Given the description of an element on the screen output the (x, y) to click on. 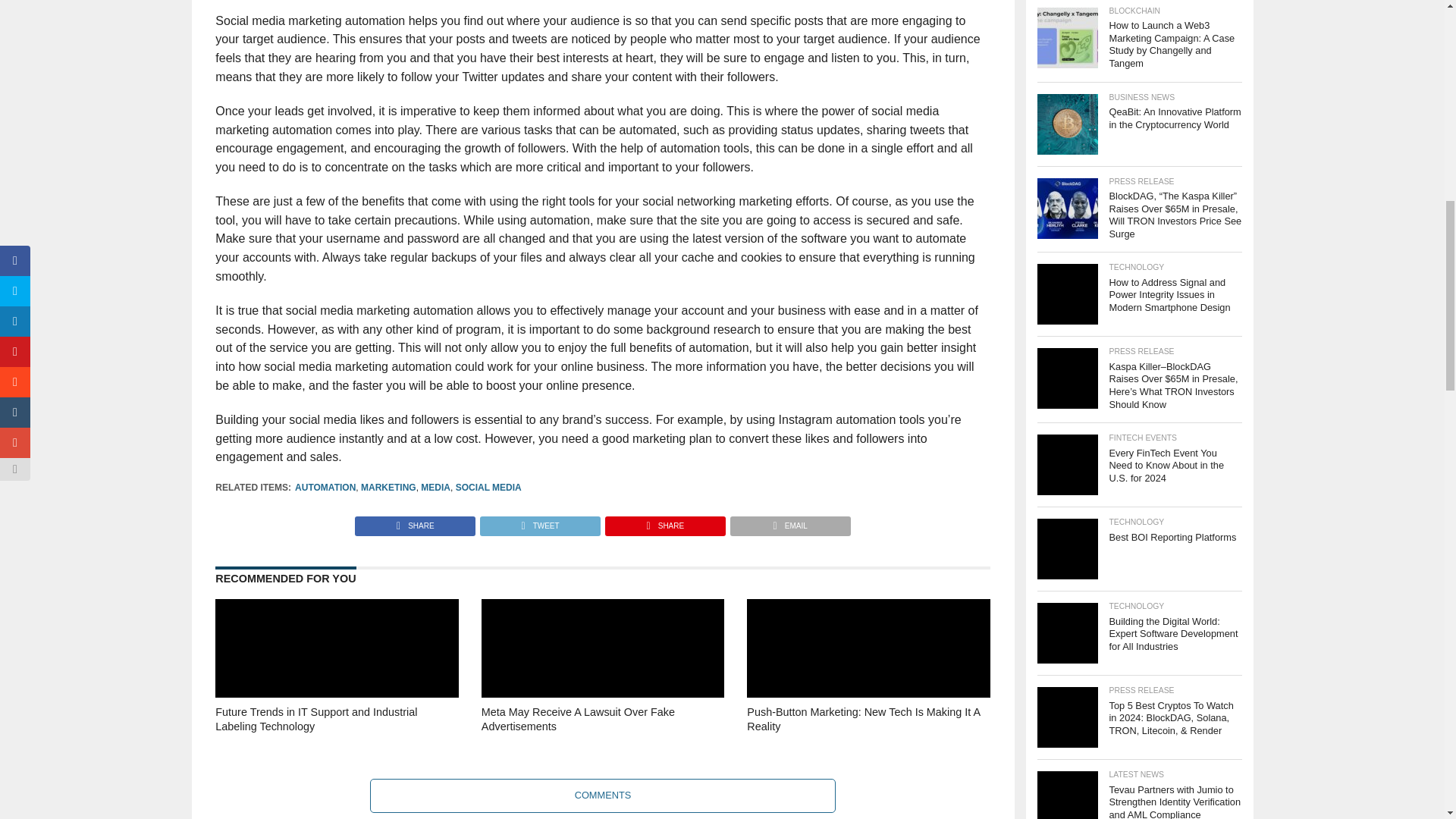
Tweet This Post (539, 521)
Meta May Receive A Lawsuit Over Fake Advertisements (602, 739)
Share on Facebook (415, 521)
Pin This Post (664, 521)
Push-Button Marketing: New Tech Is Making It A Reality (868, 739)
